Given the description of an element on the screen output the (x, y) to click on. 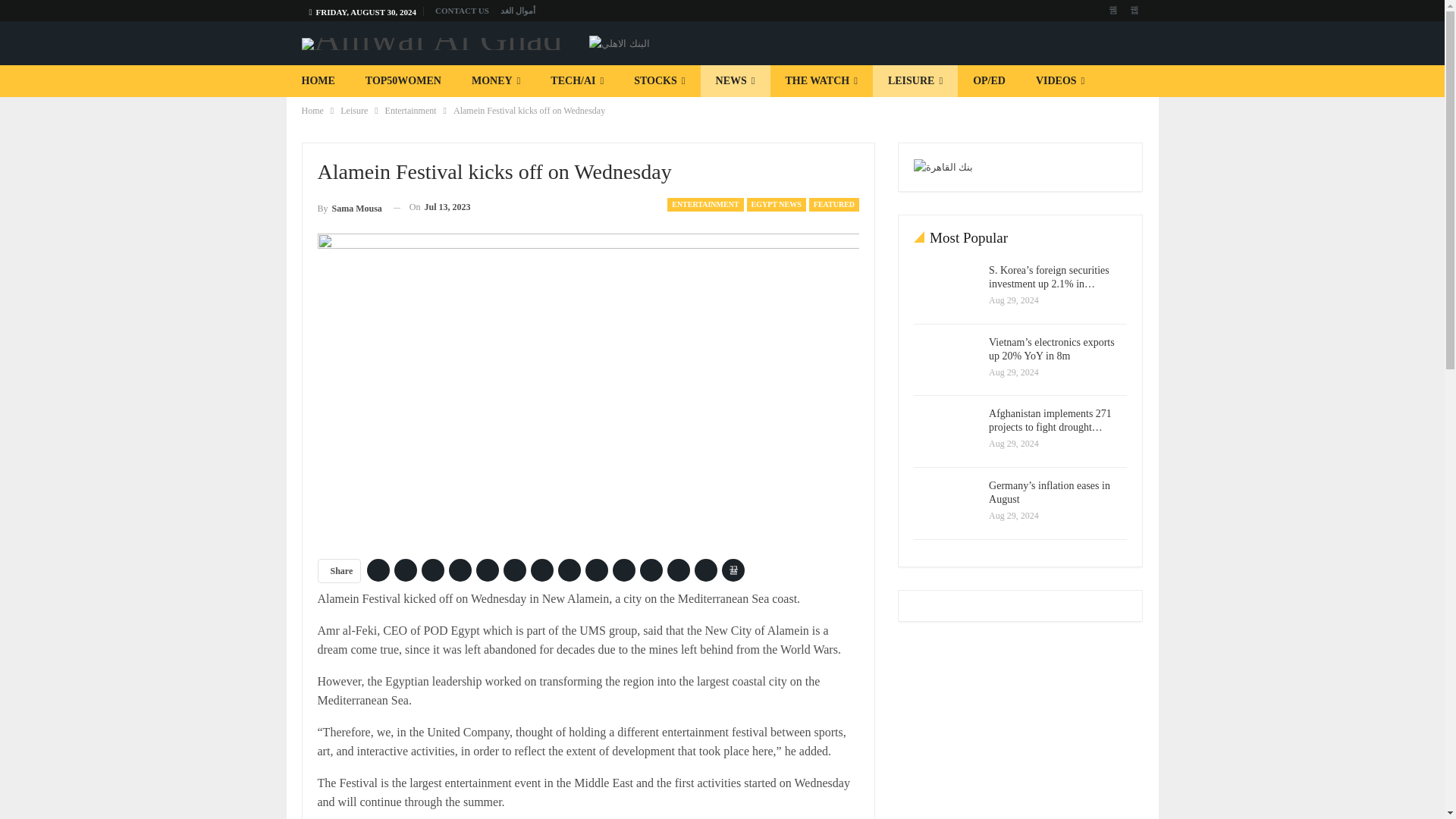
MONEY (496, 81)
HOME (318, 81)
TOP50WOMEN (403, 81)
STOCKS (659, 81)
CONTACT US (462, 10)
